Given the description of an element on the screen output the (x, y) to click on. 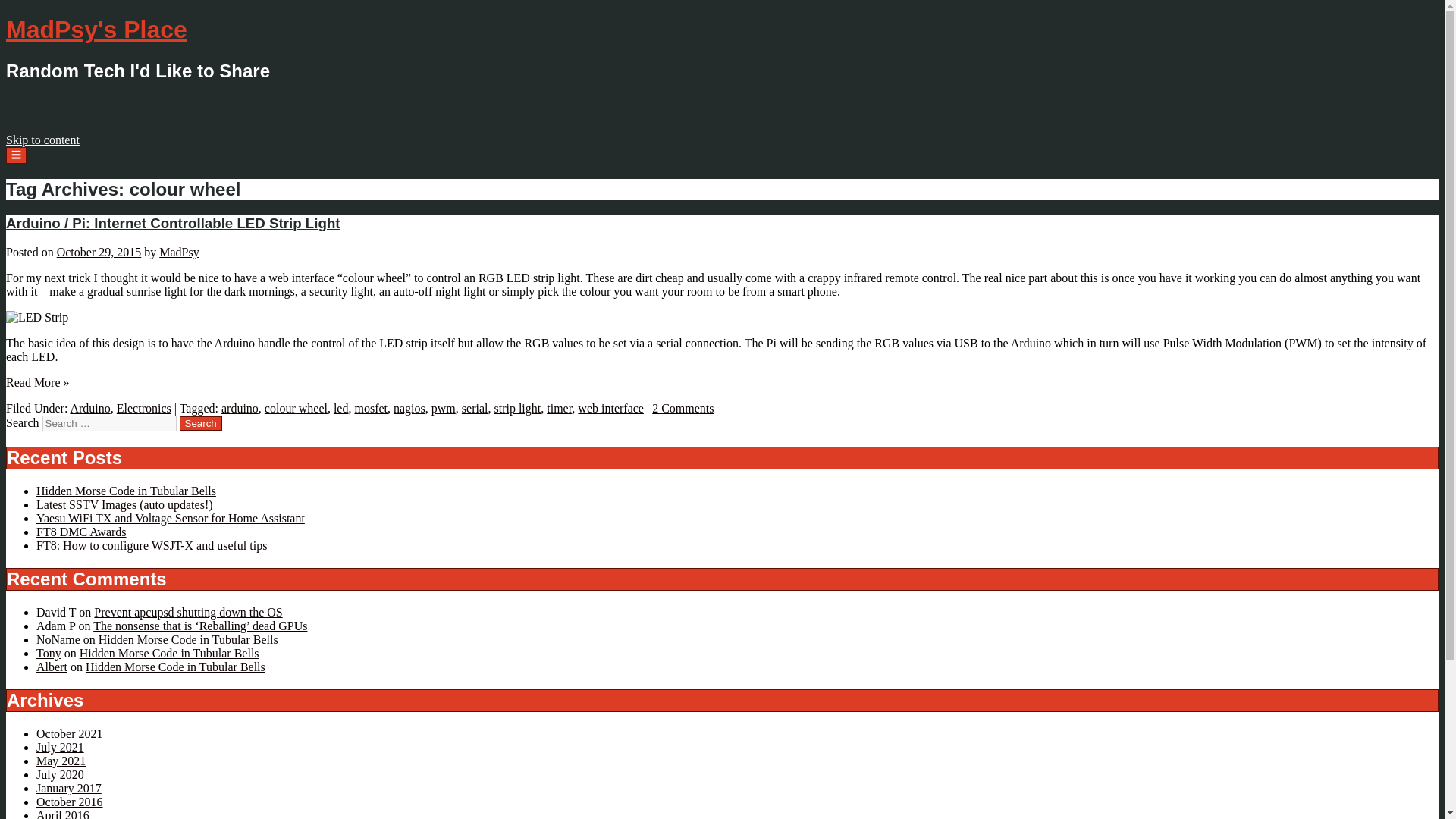
Skip to content (42, 139)
View all posts by MadPsy (178, 251)
Arduino (89, 408)
15:07 (98, 251)
January 2017 (68, 788)
MadPsy's Place (96, 29)
Hidden Morse Code in Tubular Bells (188, 639)
Tony (48, 653)
Skip to content (42, 139)
May 2021 (60, 760)
October 2016 (69, 801)
Search (200, 423)
Electronics (143, 408)
Hidden Morse Code in Tubular Bells (169, 653)
web interface (610, 408)
